Given the description of an element on the screen output the (x, y) to click on. 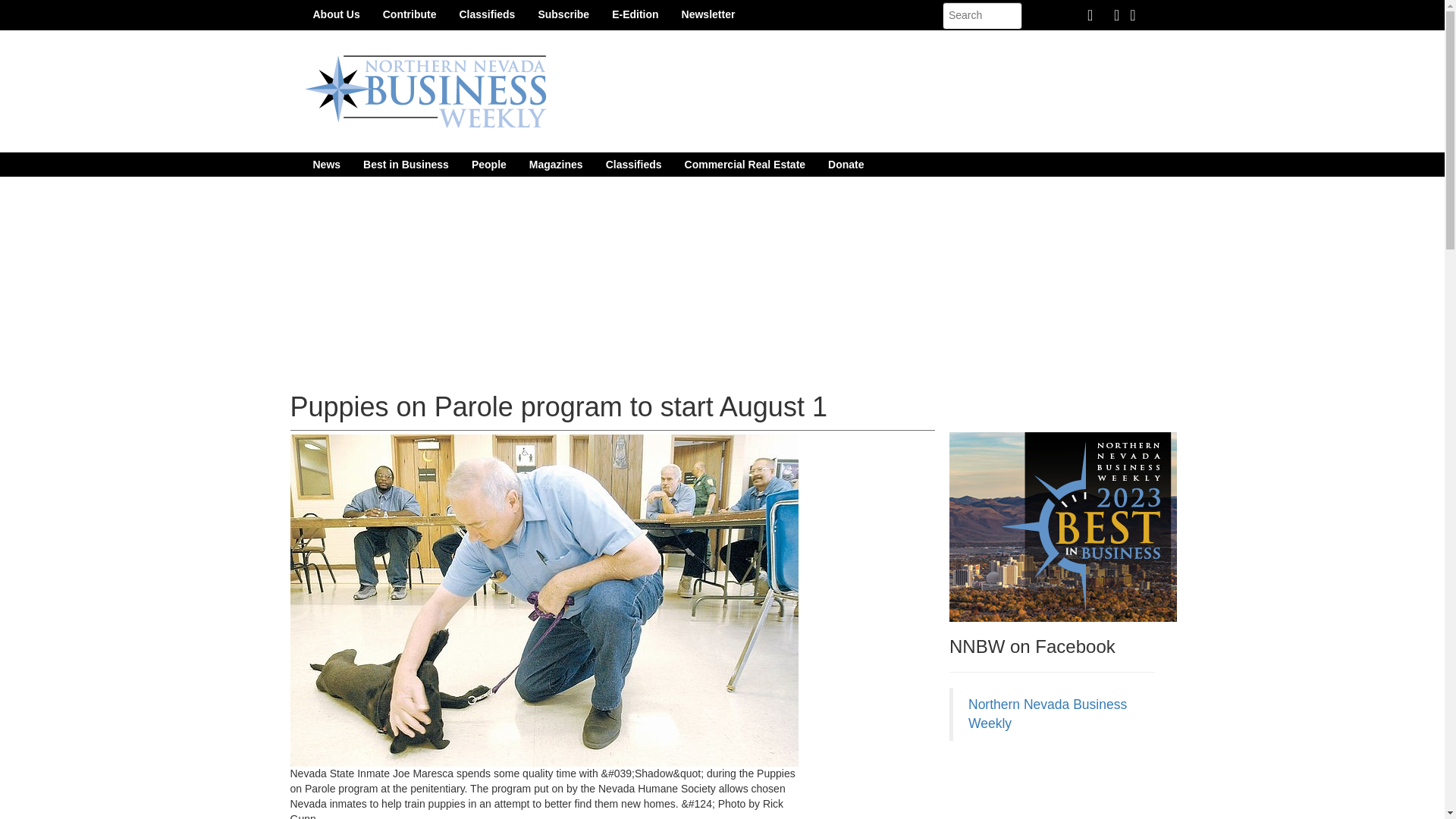
Classifieds (485, 14)
Donate (845, 164)
Commercial Real Estate (744, 164)
Subscribe (562, 14)
News (326, 164)
Magazines (556, 164)
3rd party ad content (1062, 787)
Contribute (409, 14)
Best in Business (406, 164)
People (489, 164)
About Us (336, 14)
Classifieds (633, 164)
E-Edition (634, 14)
Newsletter (707, 14)
